Given the description of an element on the screen output the (x, y) to click on. 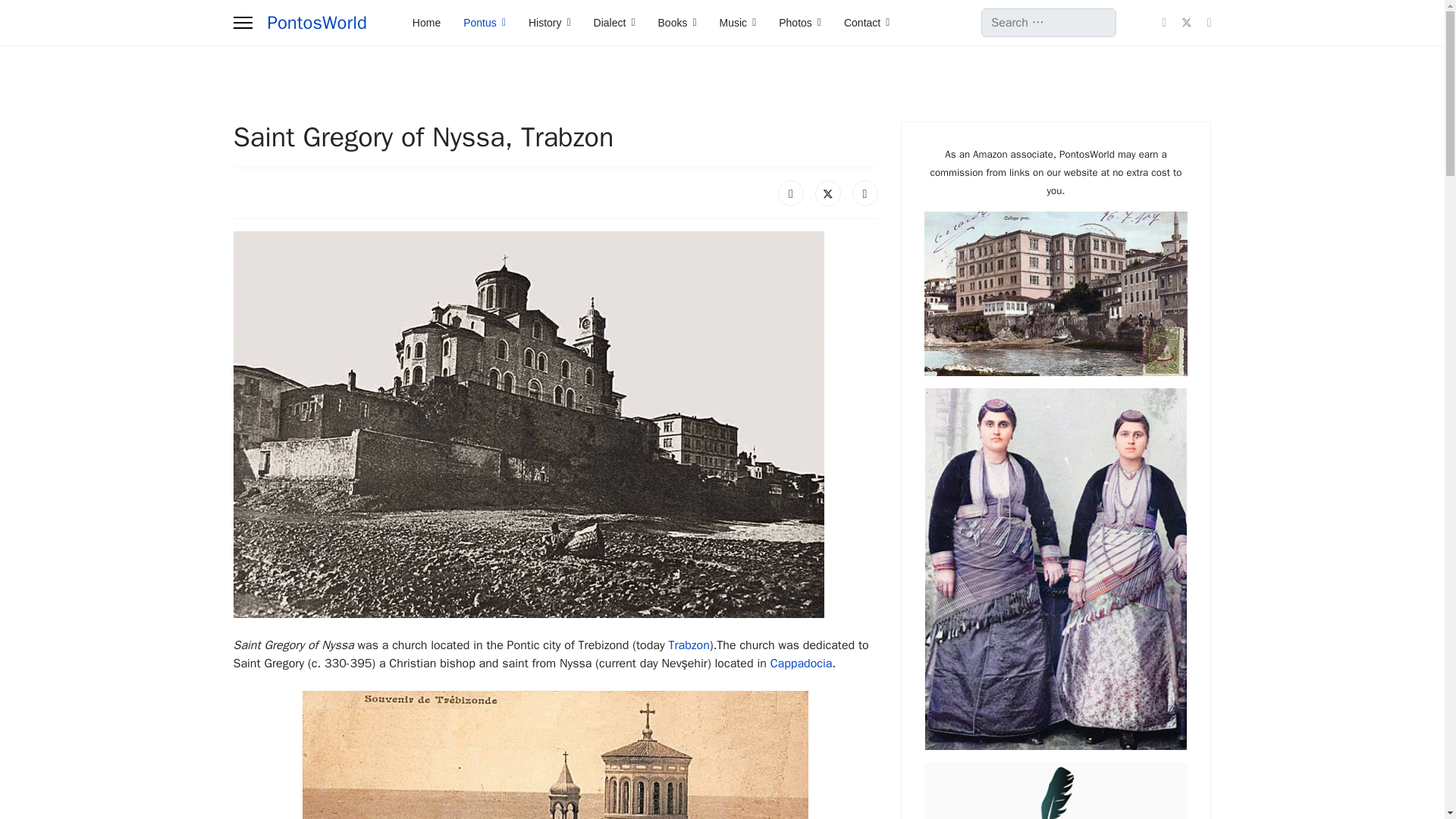
Pontus (483, 22)
History (549, 22)
Home (426, 22)
Facebook (790, 193)
Books (676, 22)
LinkedIn (864, 193)
Menu (241, 22)
PontosWorld (316, 22)
Dialect (614, 22)
